Given the description of an element on the screen output the (x, y) to click on. 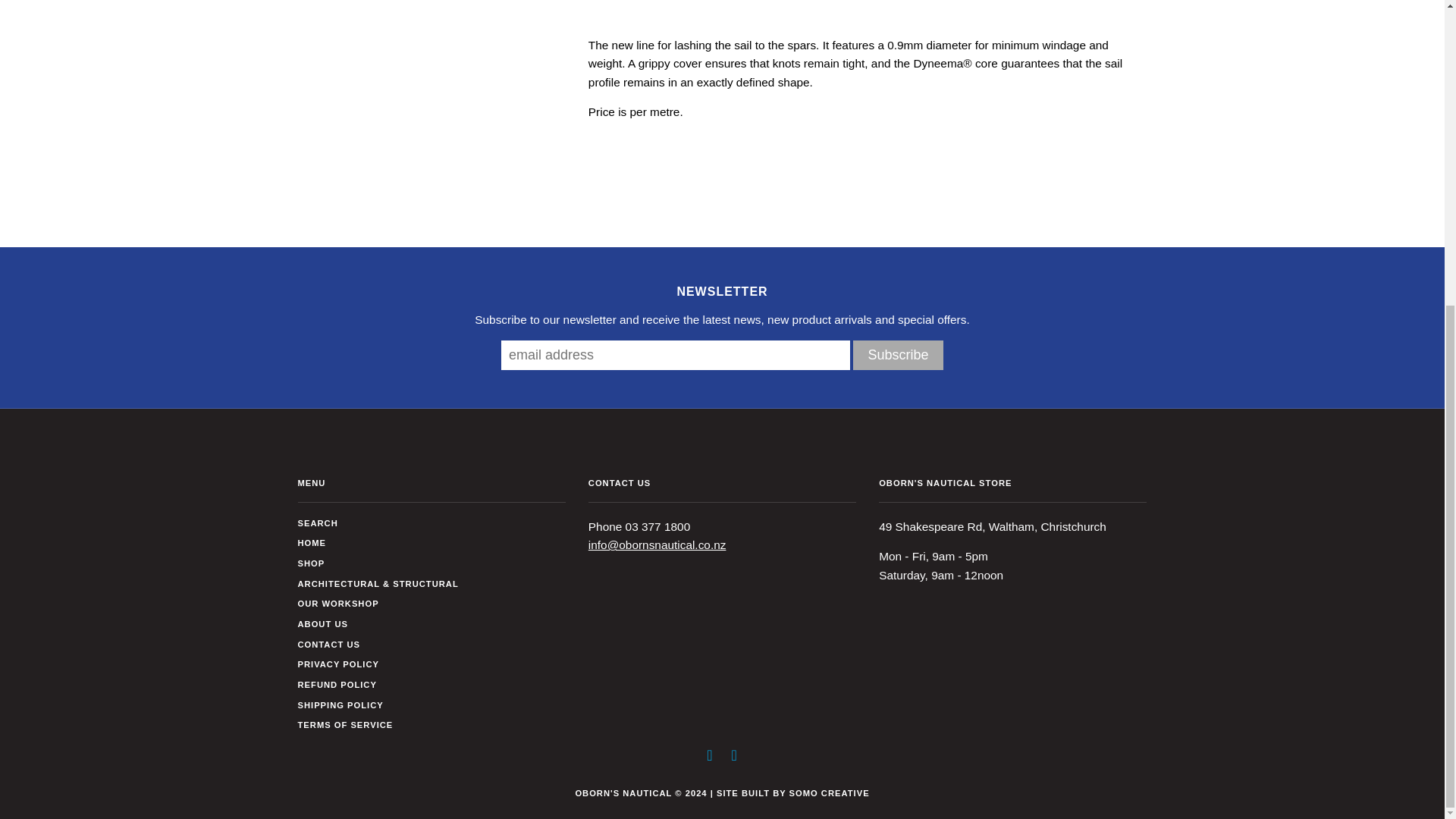
Subscribe (897, 354)
